Given the description of an element on the screen output the (x, y) to click on. 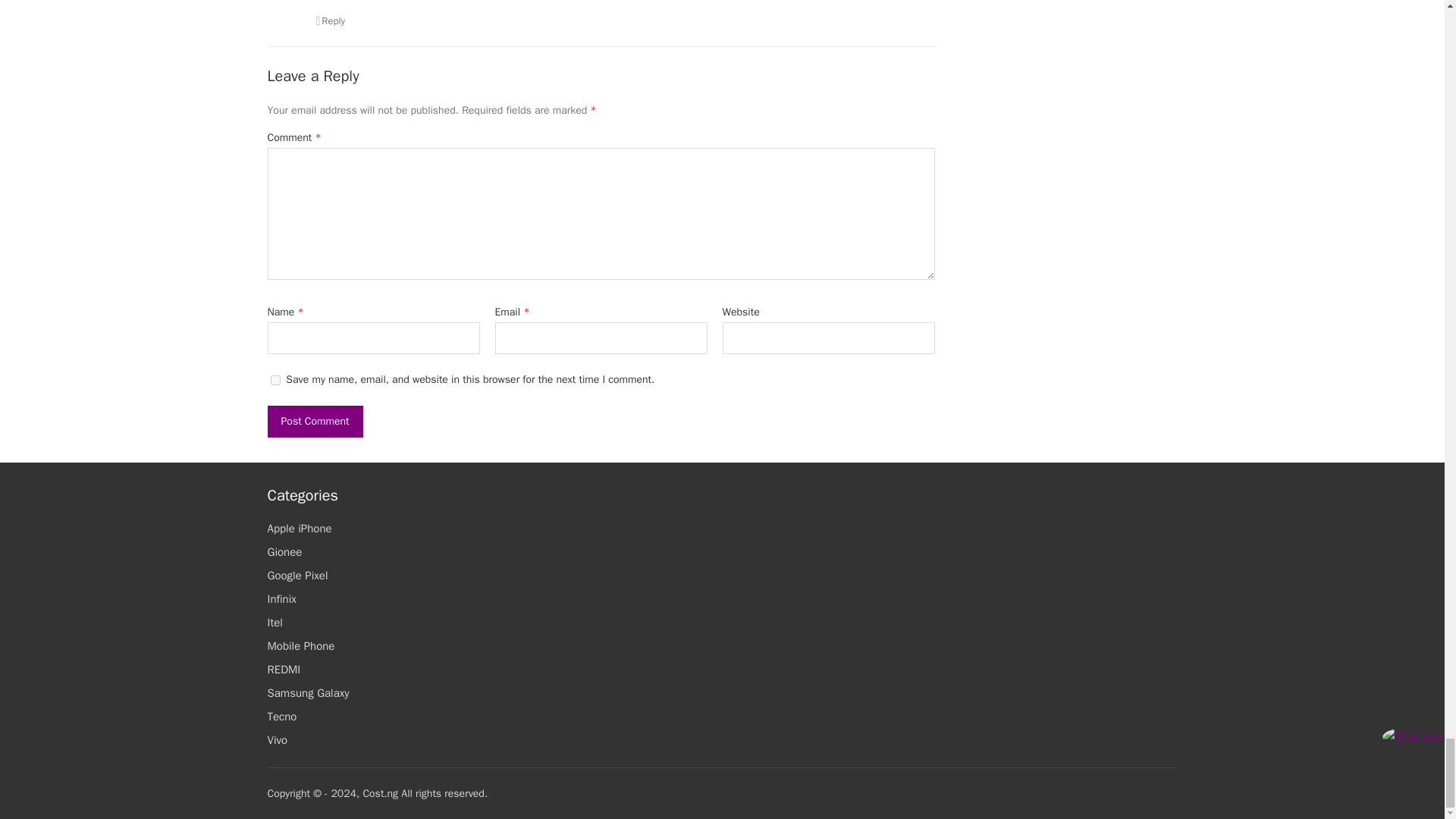
yes (274, 379)
Post Comment (314, 421)
